Given the description of an element on the screen output the (x, y) to click on. 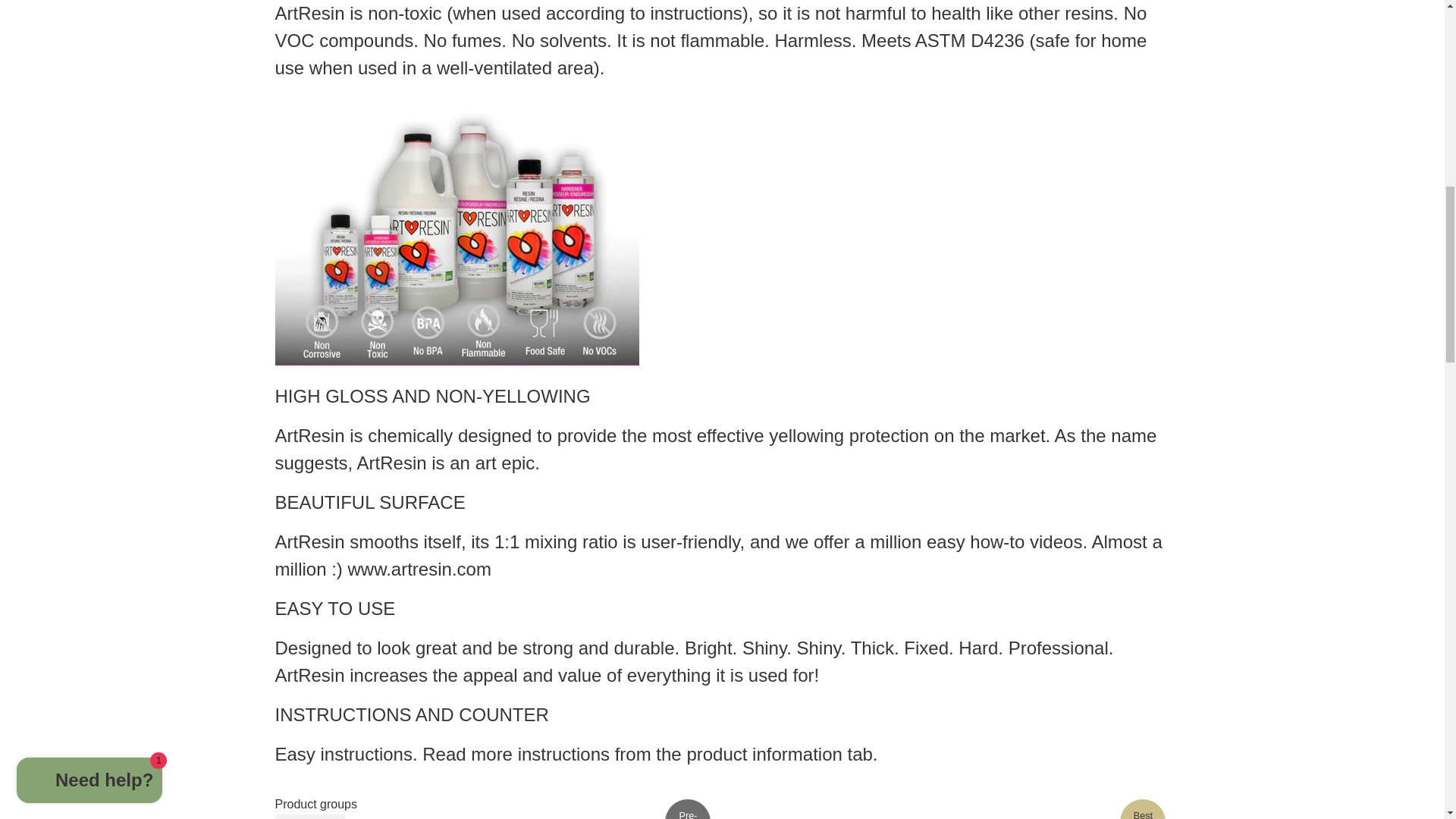
ALL COLORS (310, 817)
ALL COLORS (310, 817)
